Given the description of an element on the screen output the (x, y) to click on. 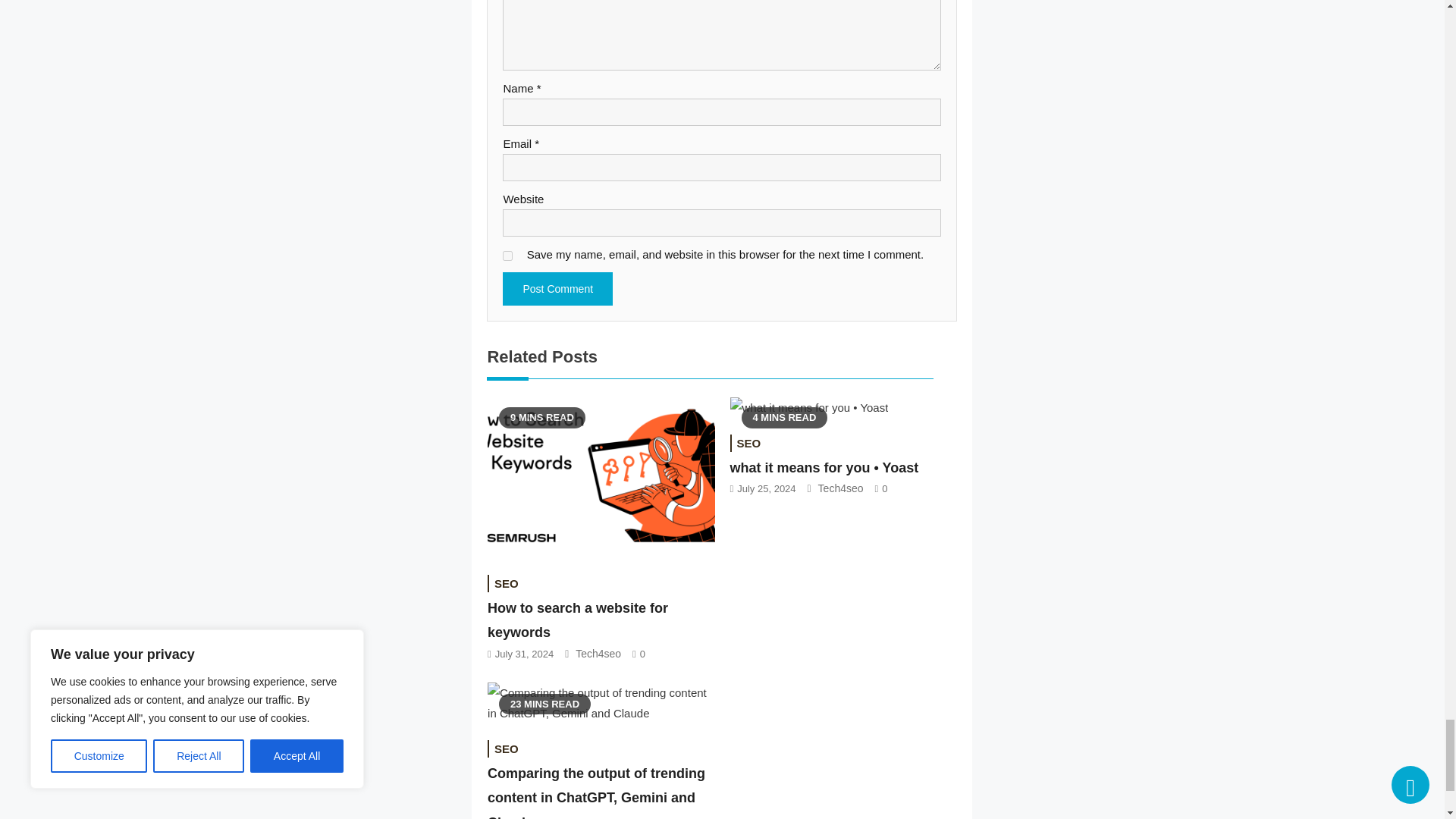
yes (507, 255)
Post Comment (557, 288)
